Given the description of an element on the screen output the (x, y) to click on. 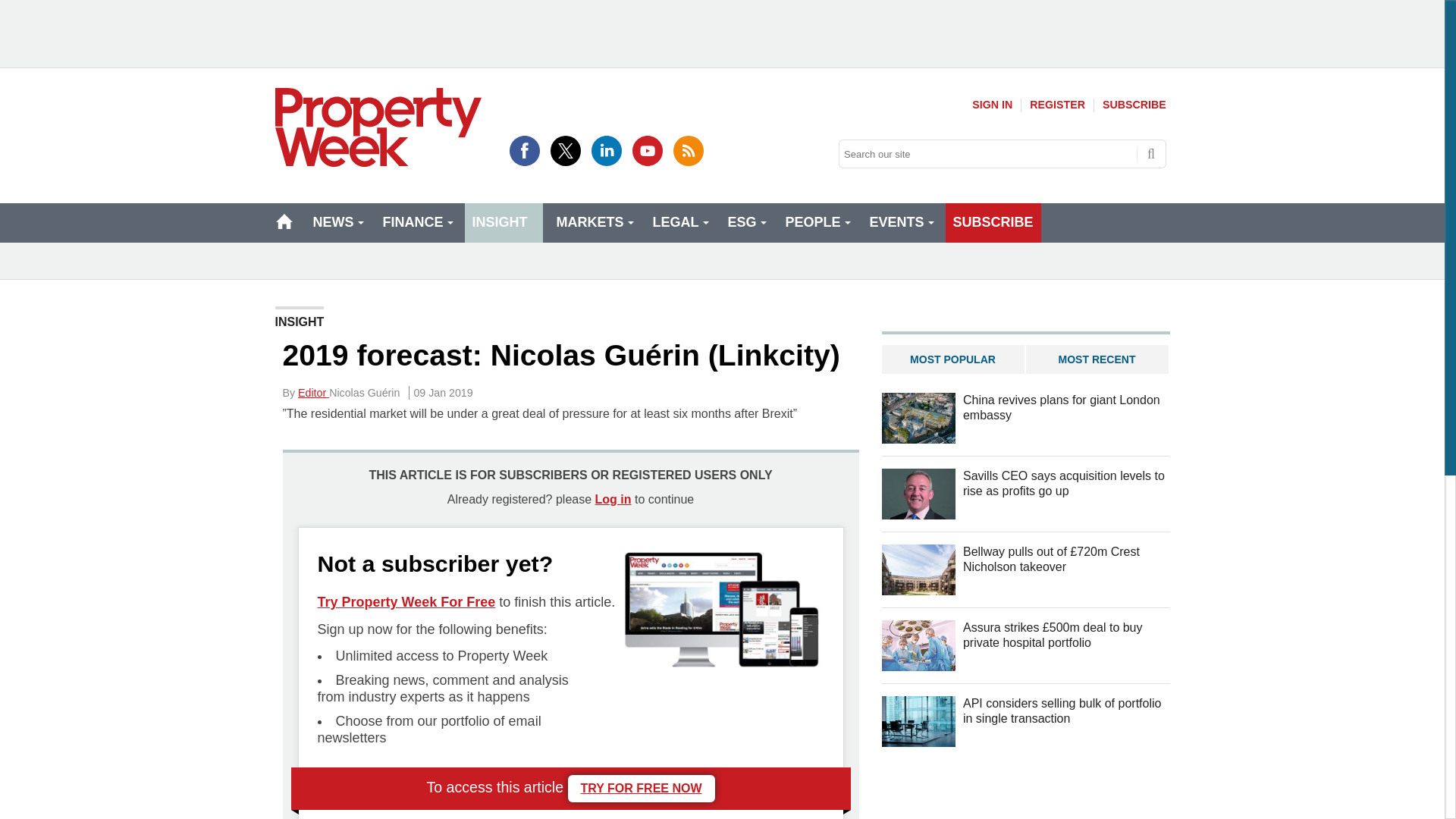
Property Week (377, 127)
SUBSCRIBE (1134, 105)
Savills CEO says acquisition levels to rise as profits go up (917, 493)
SIGN IN (991, 105)
HOME (283, 221)
Search (1151, 153)
Posts by Editor (313, 392)
FINANCE (416, 222)
China revives plans for giant London embassy (917, 418)
REGISTER (1056, 105)
